Given the description of an element on the screen output the (x, y) to click on. 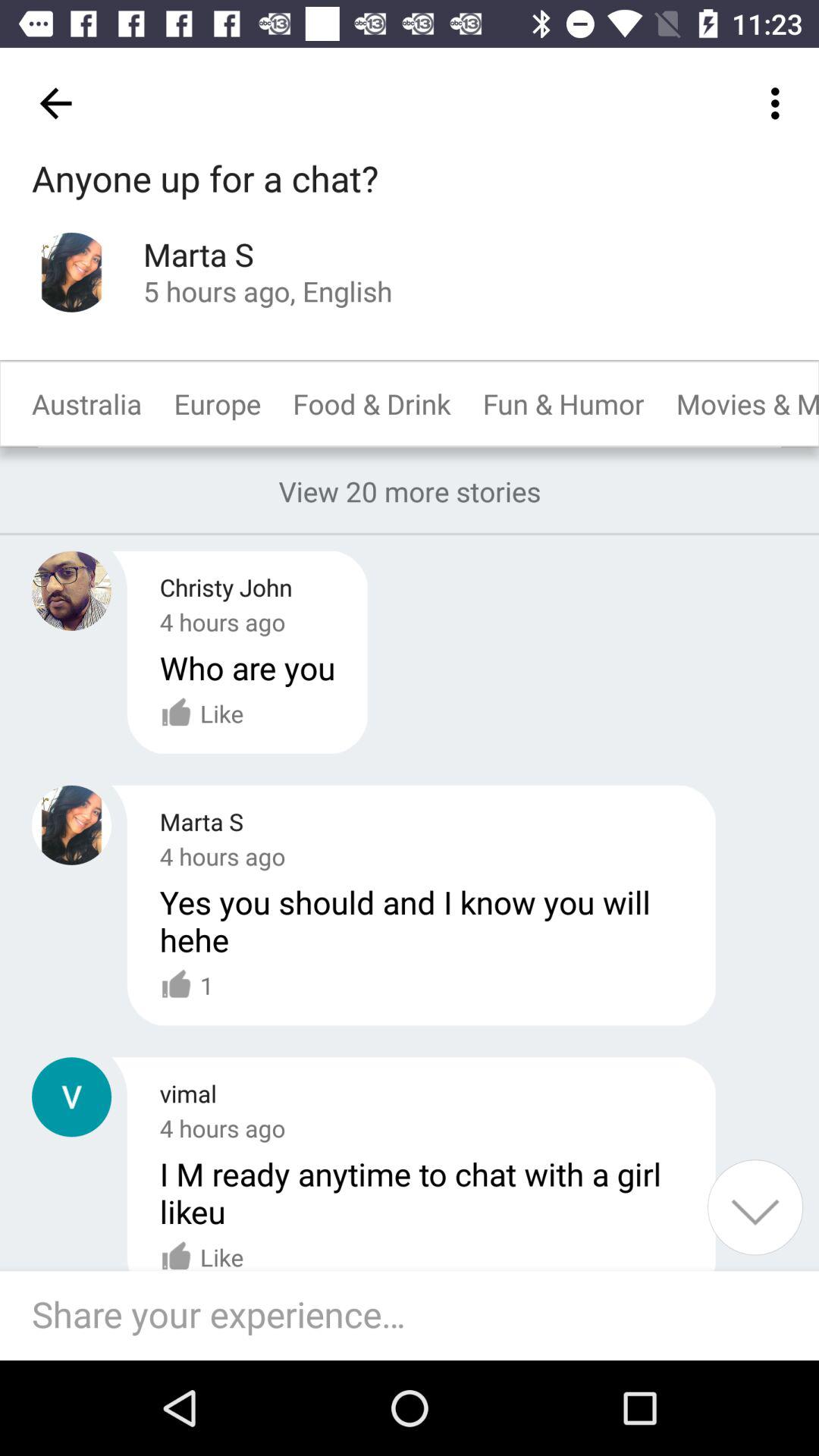
view profile (71, 1096)
